Given the description of an element on the screen output the (x, y) to click on. 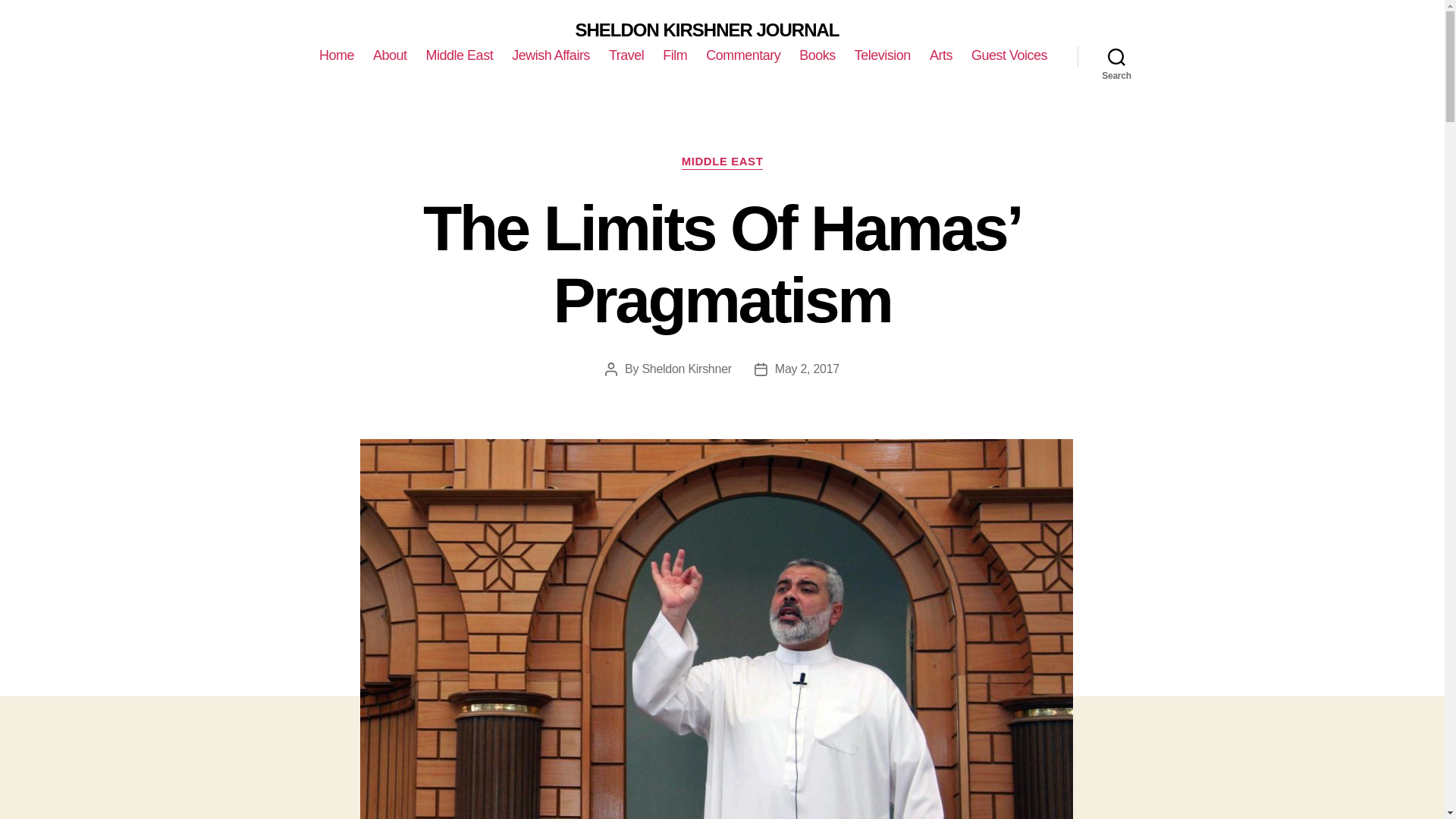
Arts (941, 55)
Jewish Affairs (550, 55)
Travel (625, 55)
Guest Voices (1008, 55)
Film (674, 55)
Home (335, 55)
Search (1116, 55)
SHELDON KIRSHNER JOURNAL (706, 30)
Television (882, 55)
Middle East (459, 55)
